Given the description of an element on the screen output the (x, y) to click on. 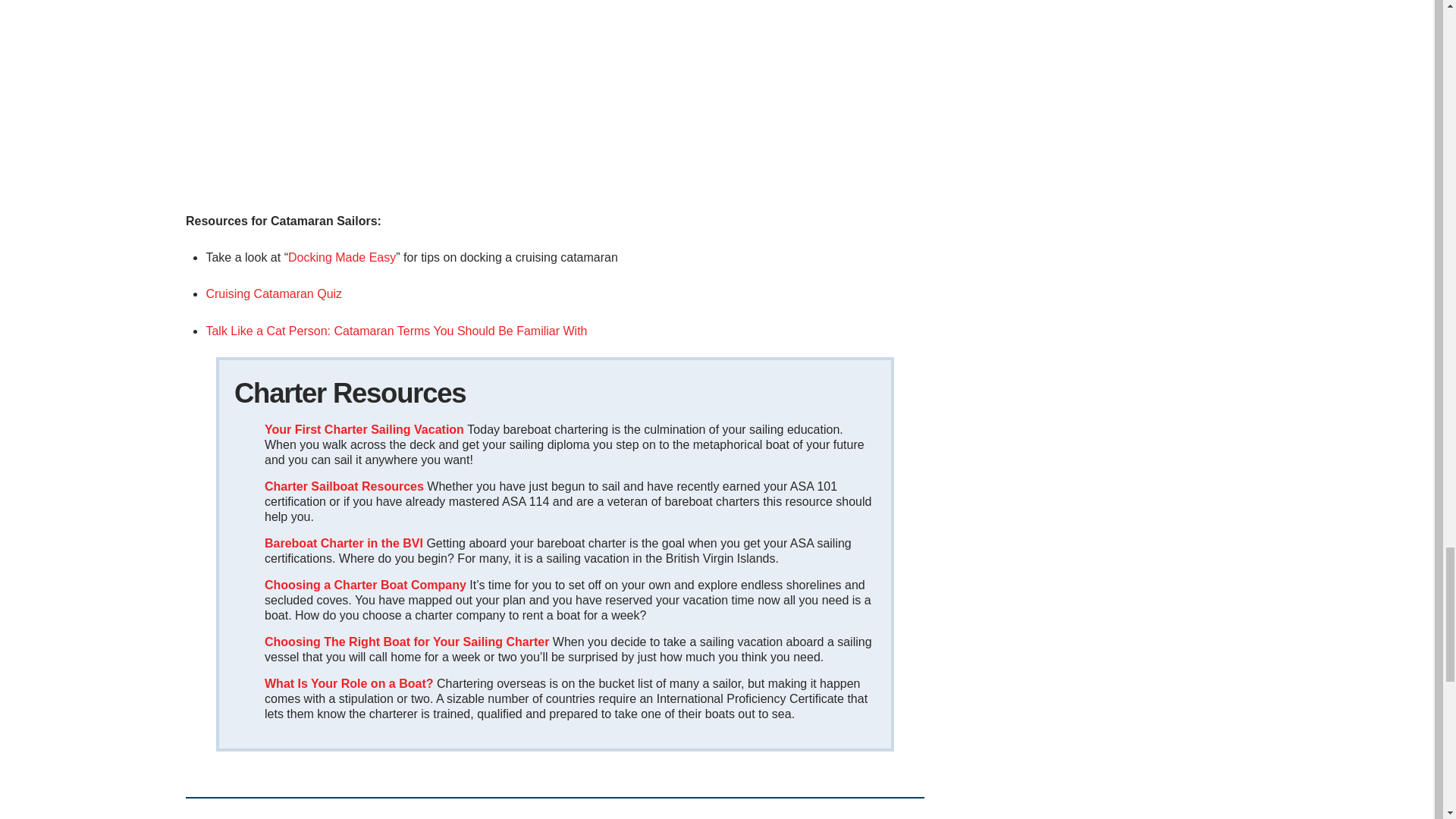
BVI charter (343, 543)
Charter Company (364, 584)
First Charter (365, 429)
choose boat (406, 641)
Charter resources (345, 486)
Europe (350, 683)
